Given the description of an element on the screen output the (x, y) to click on. 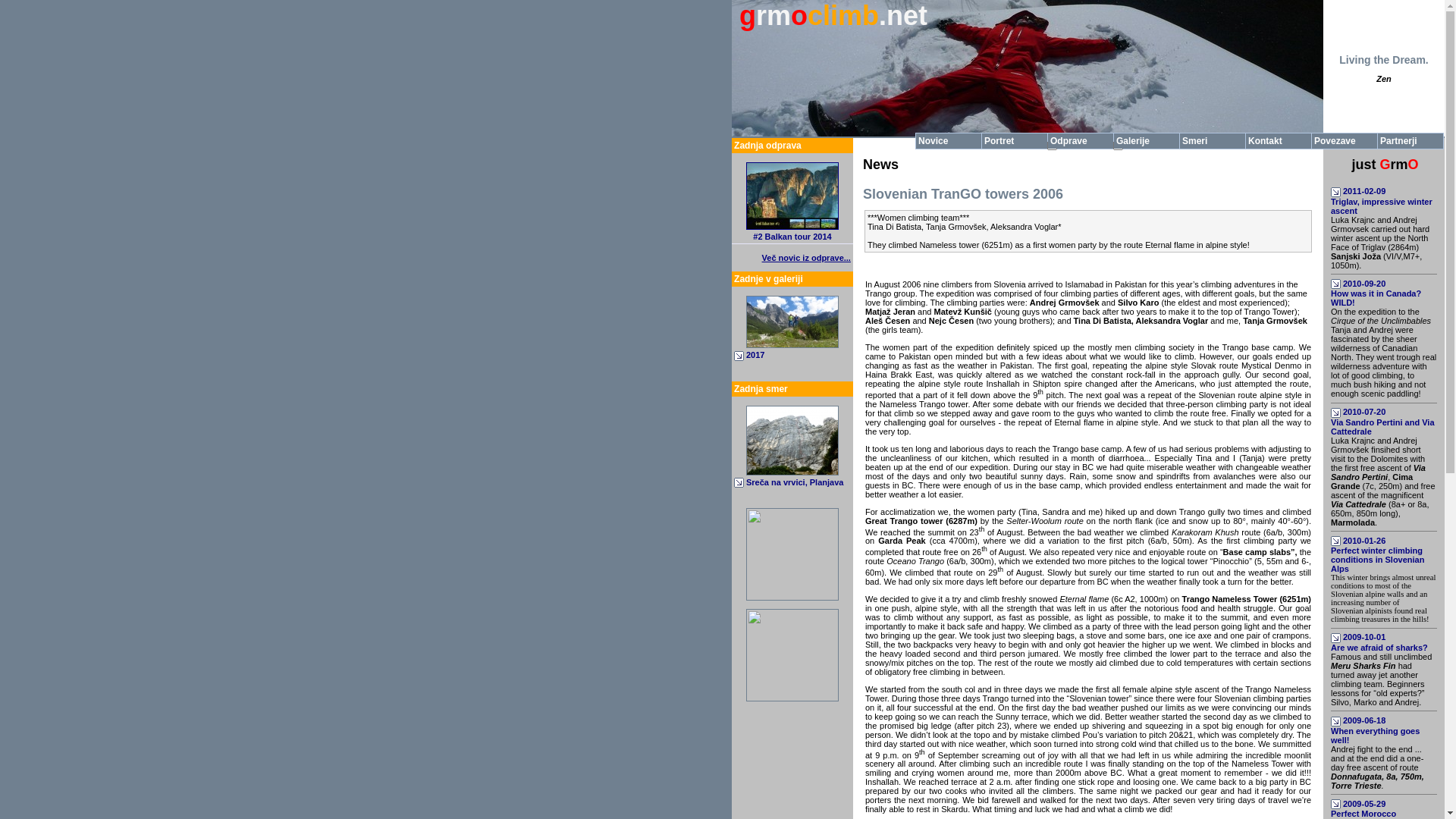
More... (1379, 641)
More... (1374, 729)
More... (1379, 242)
More... (1375, 293)
More... (1376, 767)
Podrobneje (794, 481)
More... (1382, 421)
Celotna galerija (791, 344)
More... (1381, 200)
2017 (754, 354)
